Given the description of an element on the screen output the (x, y) to click on. 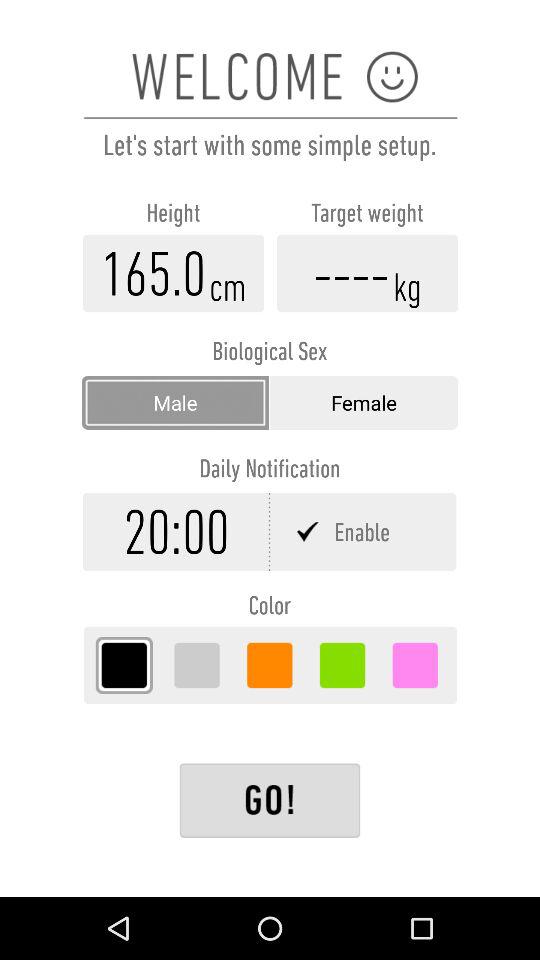
select the color black (124, 665)
